Given the description of an element on the screen output the (x, y) to click on. 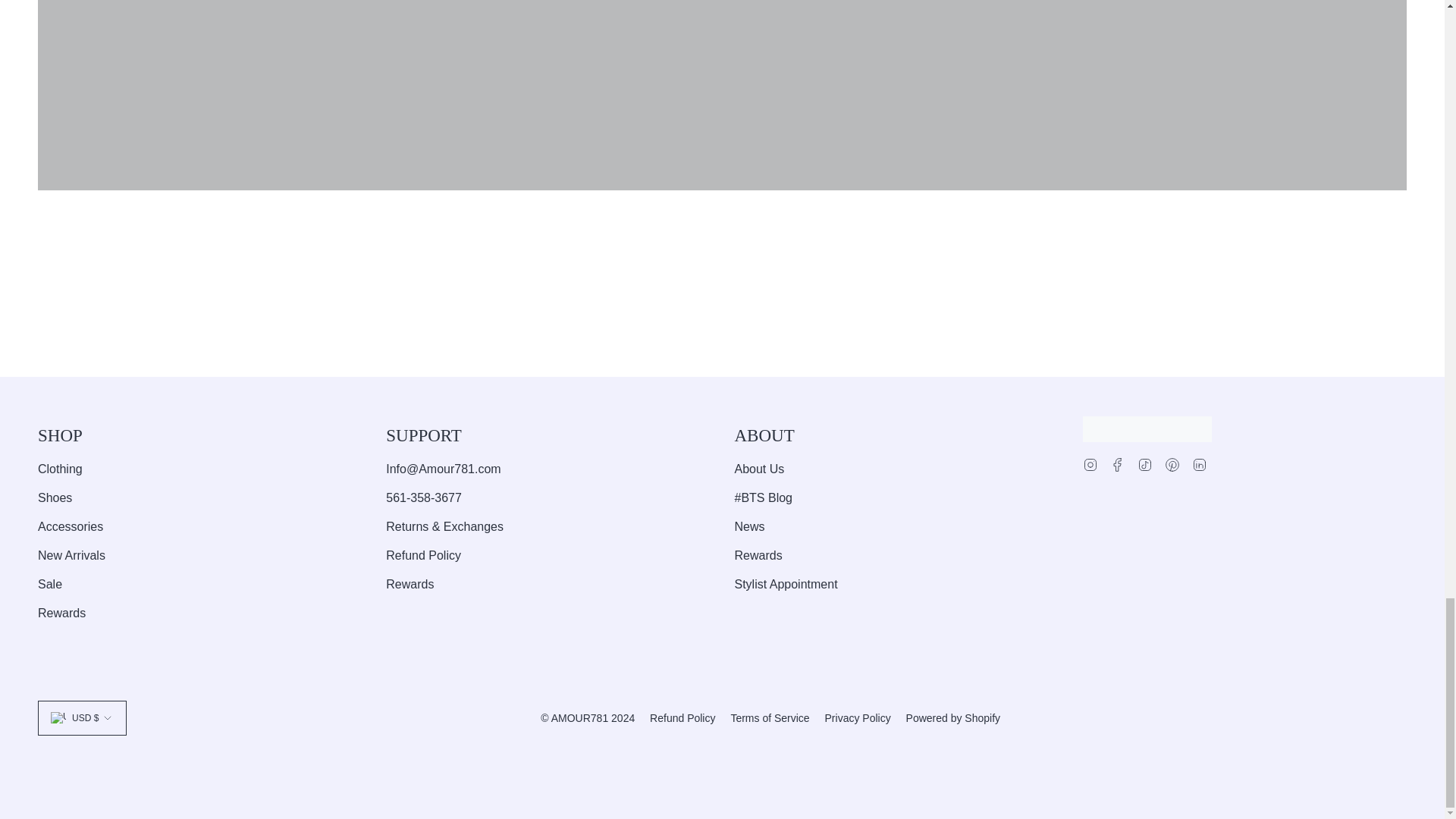
AMOUR781 on Pinterest (1171, 463)
AMOUR781 on TikTok (1145, 463)
AMOUR781 on Instagram (1090, 463)
AMOUR781 on Linkedin (1199, 463)
AMOUR781 on Facebook (1117, 463)
